Given the description of an element on the screen output the (x, y) to click on. 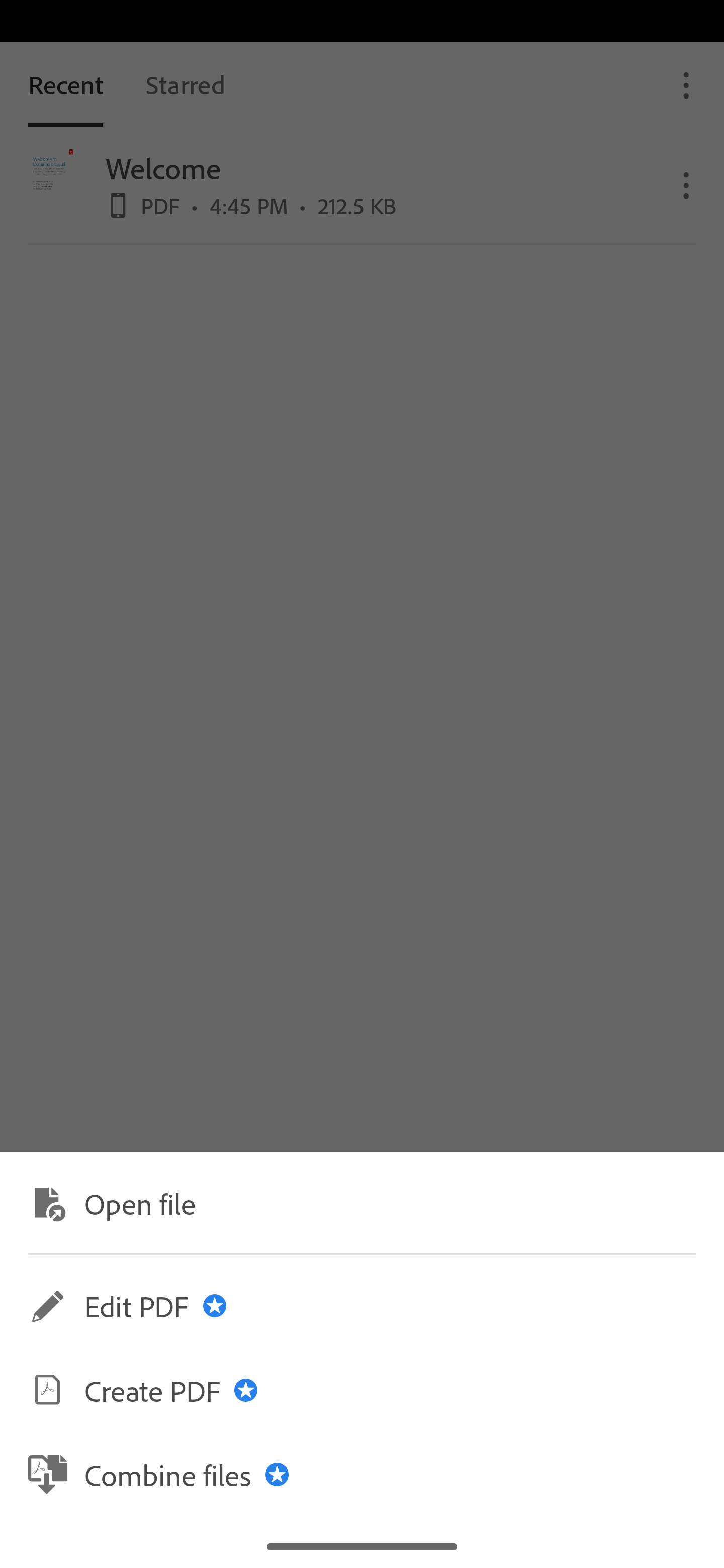
Open file (362, 1202)
Edit PDF Premium (362, 1305)
Create PDF Premium (362, 1389)
Combine files Premium (362, 1473)
